Given the description of an element on the screen output the (x, y) to click on. 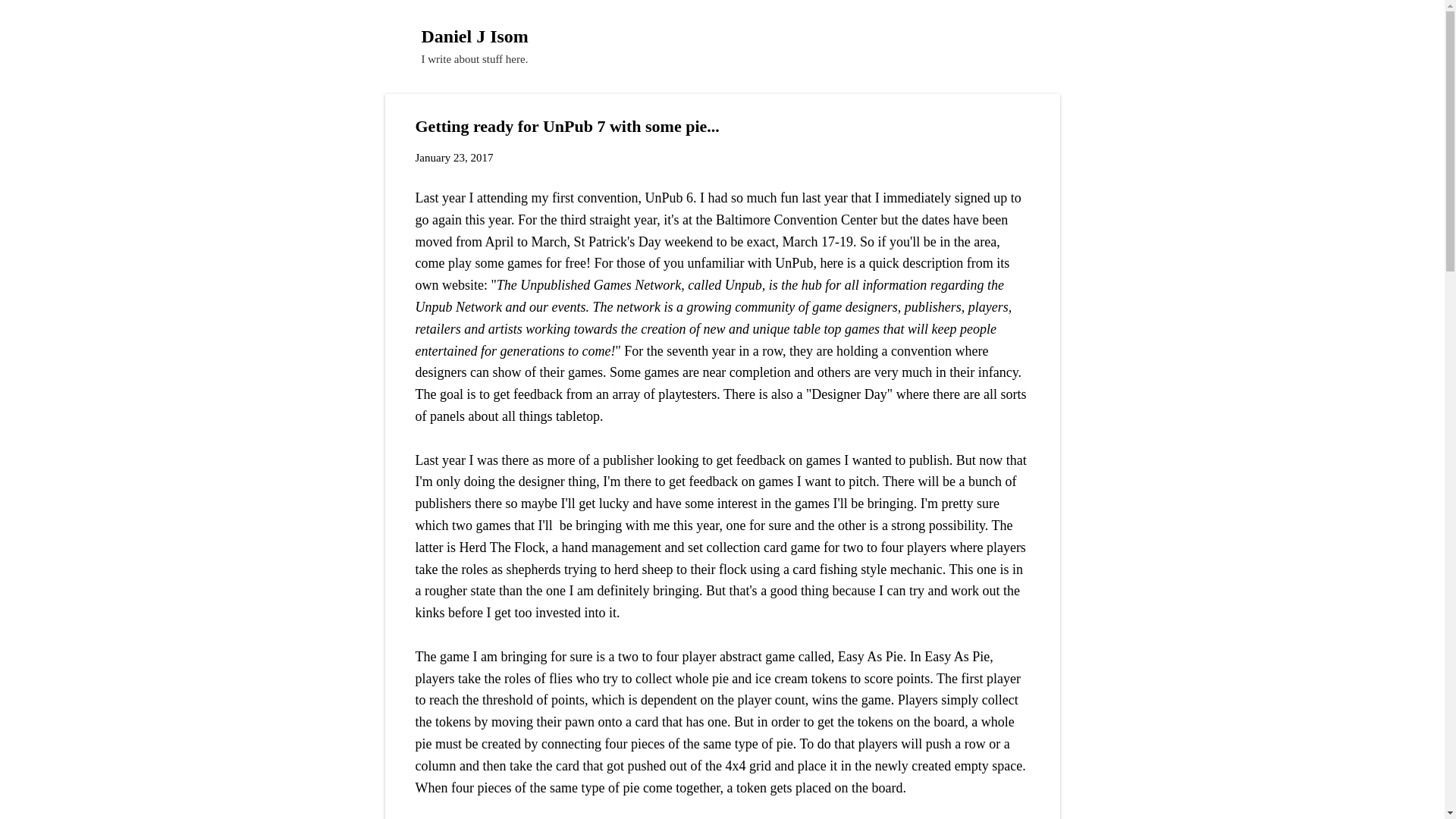
Daniel J Isom (475, 35)
January 23, 2017 (453, 157)
permanent link (453, 157)
Search (29, 18)
